Given the description of an element on the screen output the (x, y) to click on. 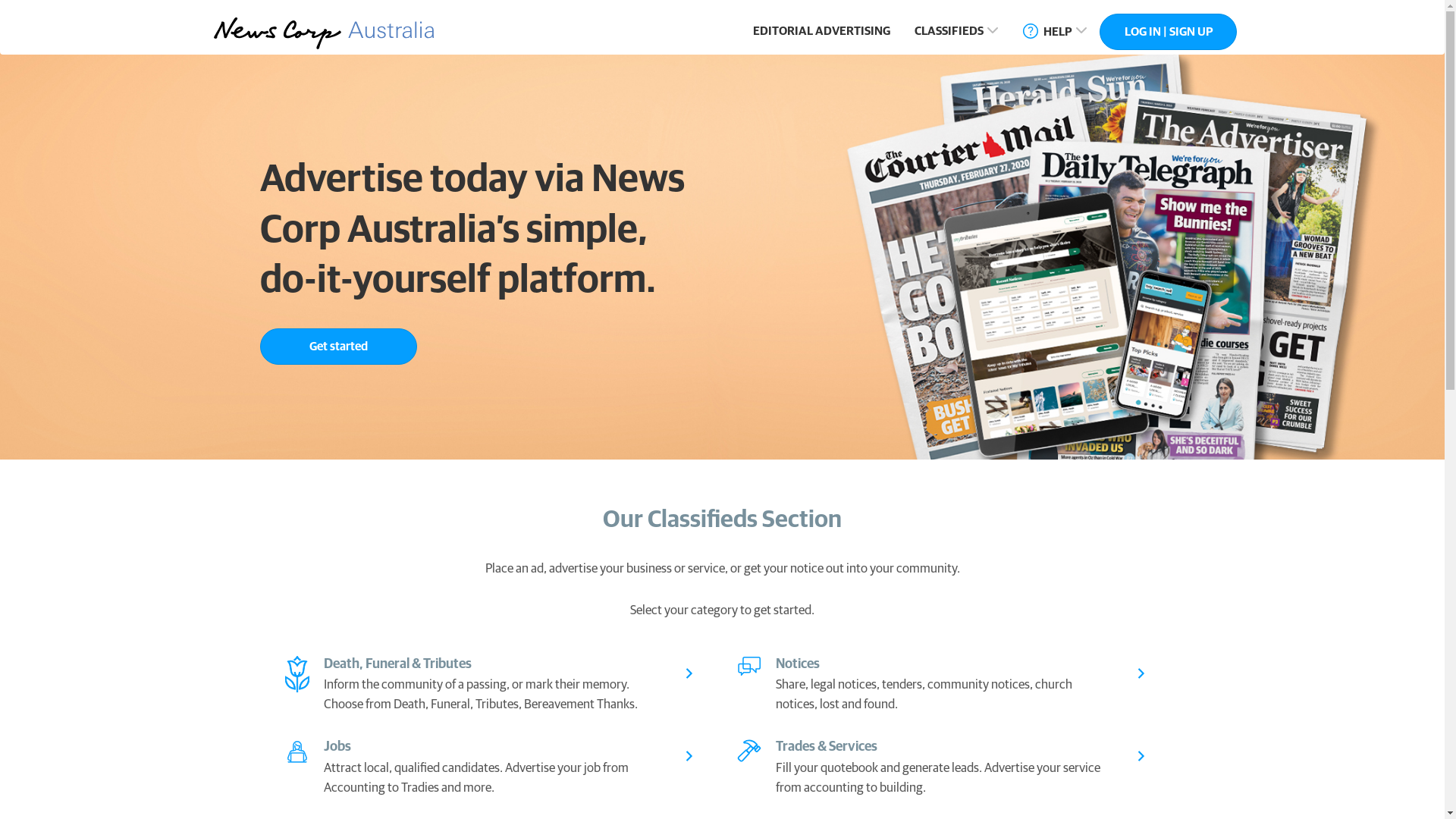
Get started Element type: text (338, 346)
LOG IN | SIGN UP Element type: text (1167, 31)
EDITORIAL ADVERTISING Element type: text (821, 31)
CLASSIFIEDS Element type: text (956, 32)
HELP Element type: text (1054, 33)
